Given the description of an element on the screen output the (x, y) to click on. 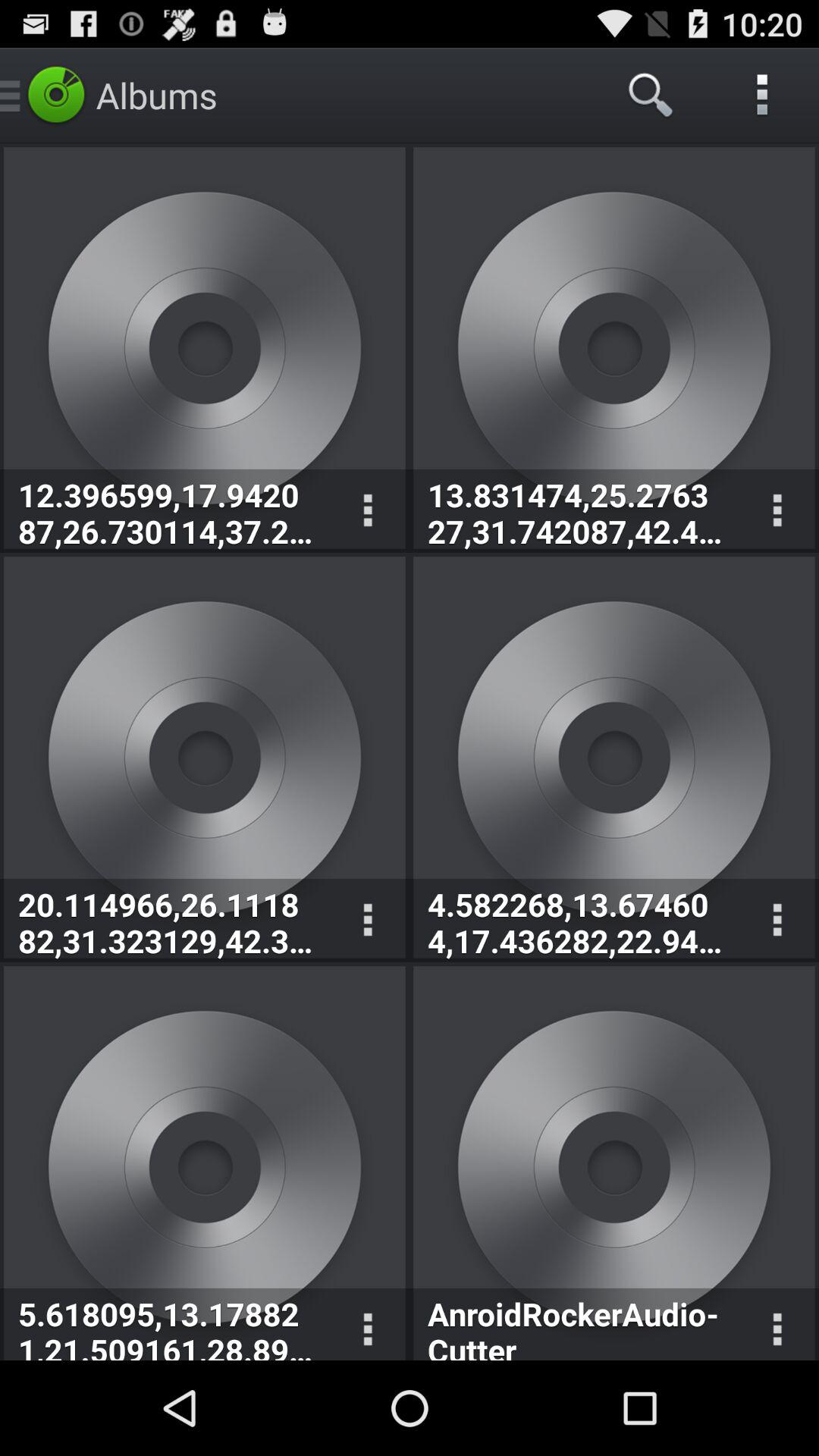
more options (367, 920)
